Given the description of an element on the screen output the (x, y) to click on. 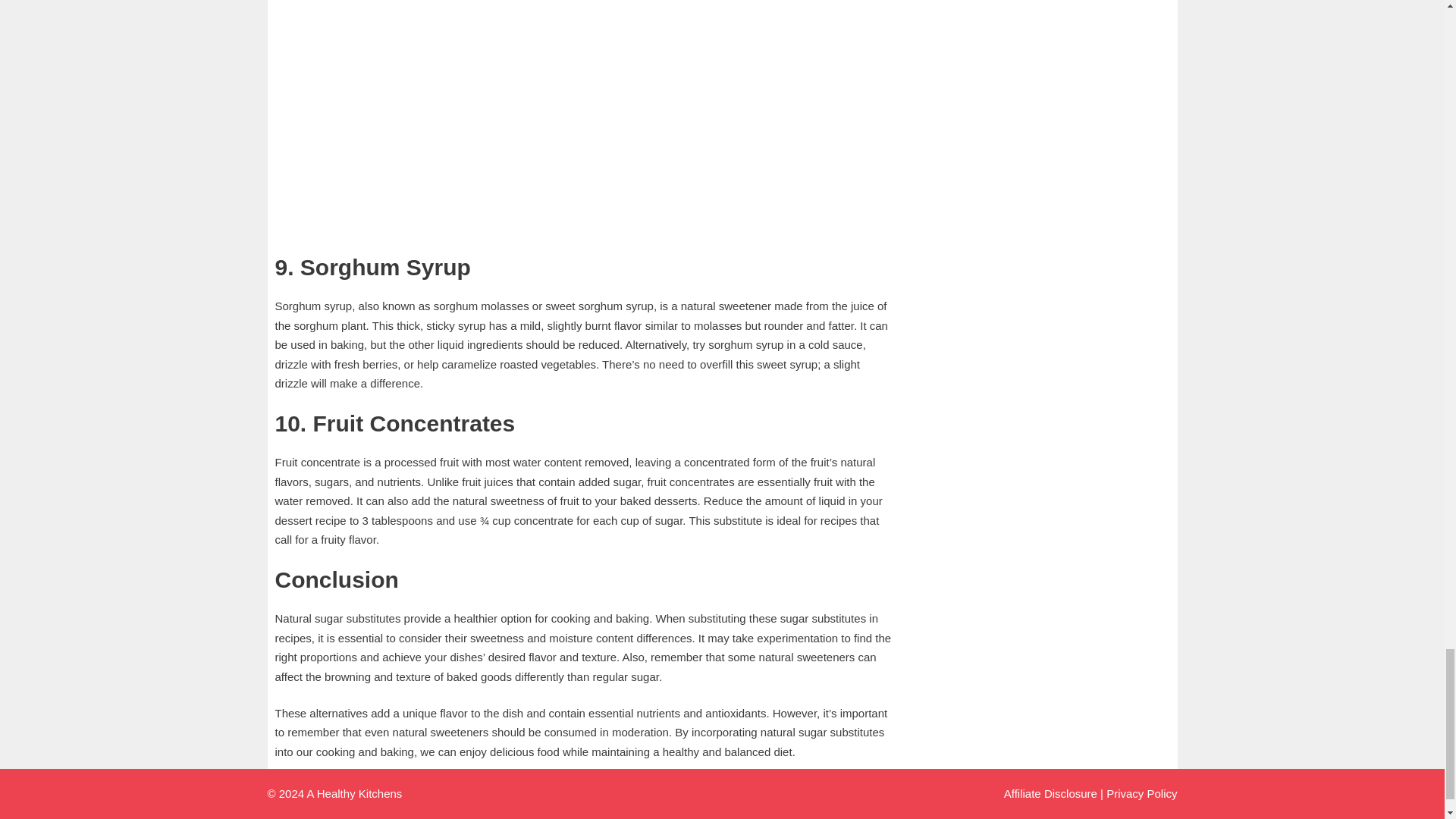
Privacy Policy (1141, 793)
Affiliate Disclosure (1050, 793)
